Given the description of an element on the screen output the (x, y) to click on. 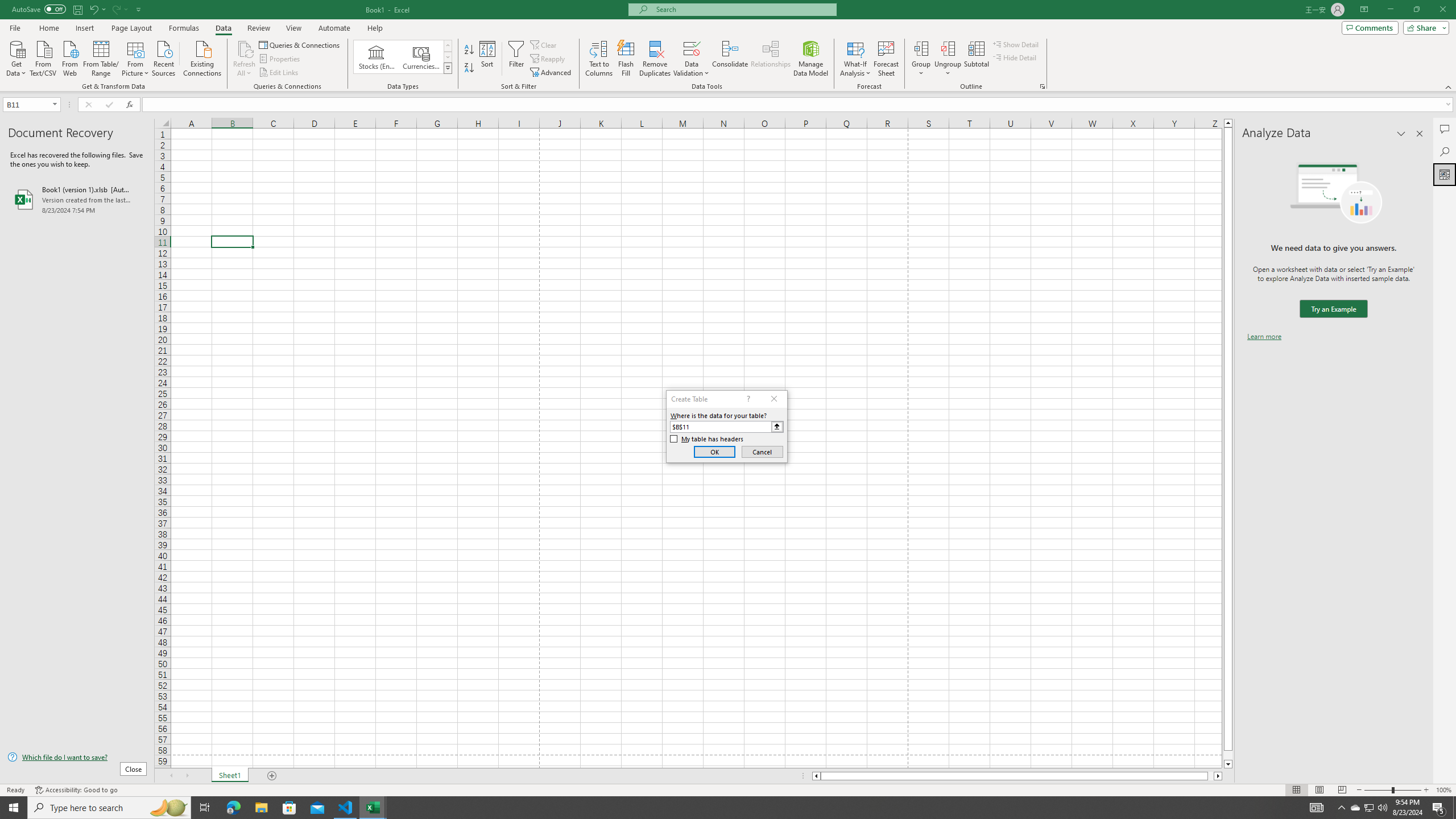
From Web (69, 57)
Hide Detail (1014, 56)
Forecast Sheet (885, 58)
Learn more (1264, 336)
